Given the description of an element on the screen output the (x, y) to click on. 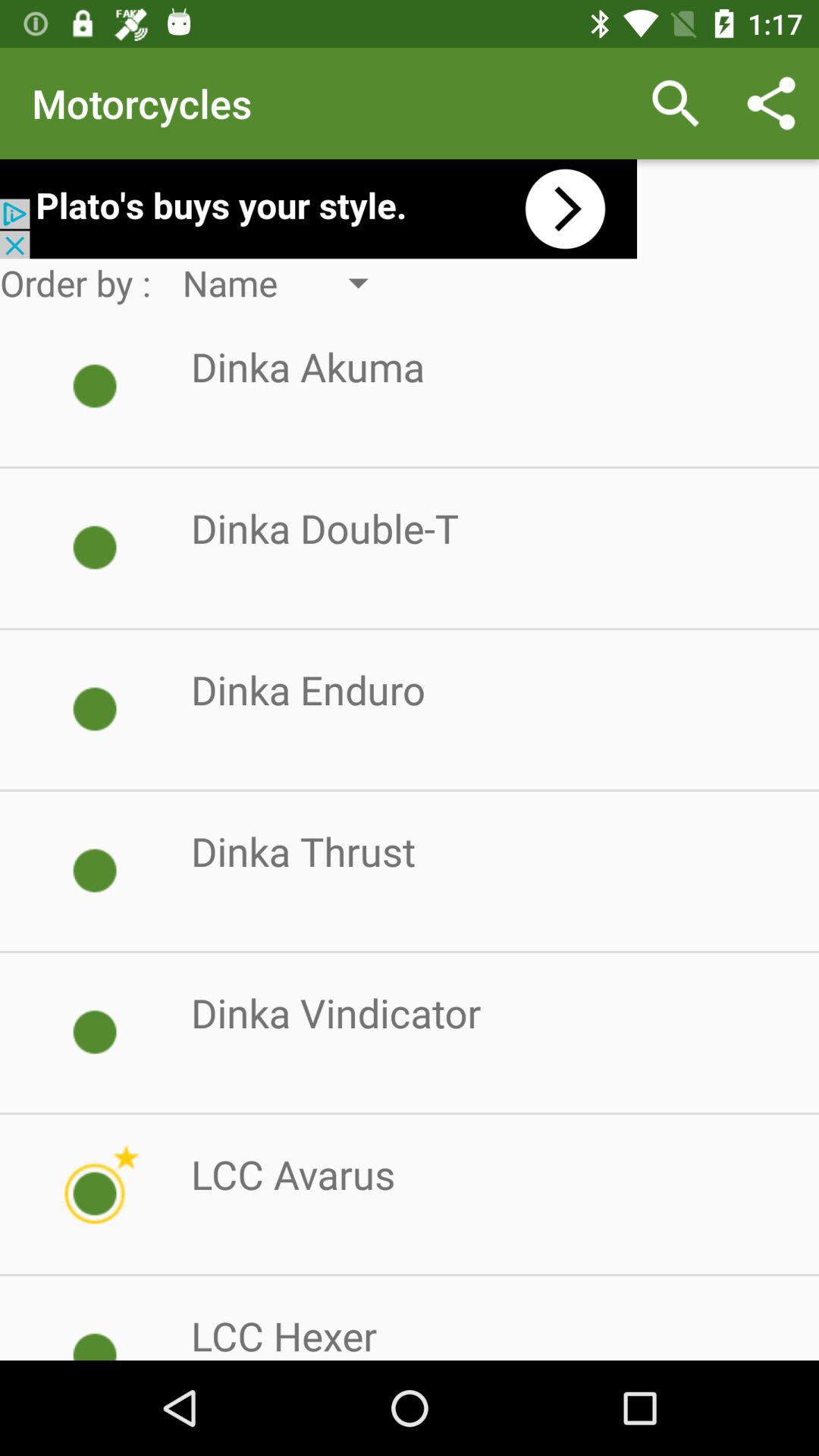
open an advertisements (318, 208)
